Given the description of an element on the screen output the (x, y) to click on. 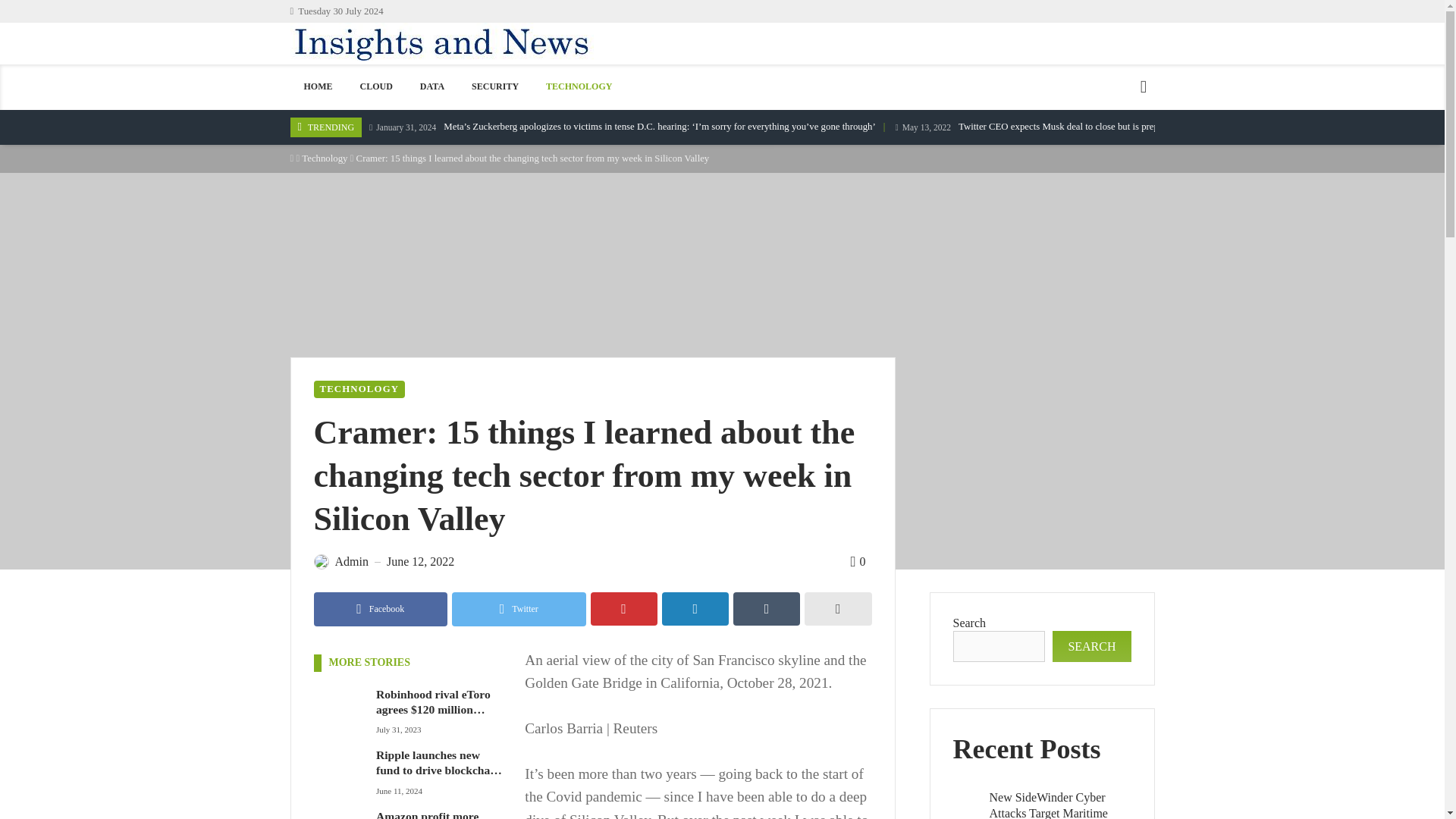
CLOUD (376, 86)
HOME (317, 86)
SECURITY (495, 86)
DATA (432, 86)
TECHNOLOGY (579, 86)
Technology (324, 158)
